Given the description of an element on the screen output the (x, y) to click on. 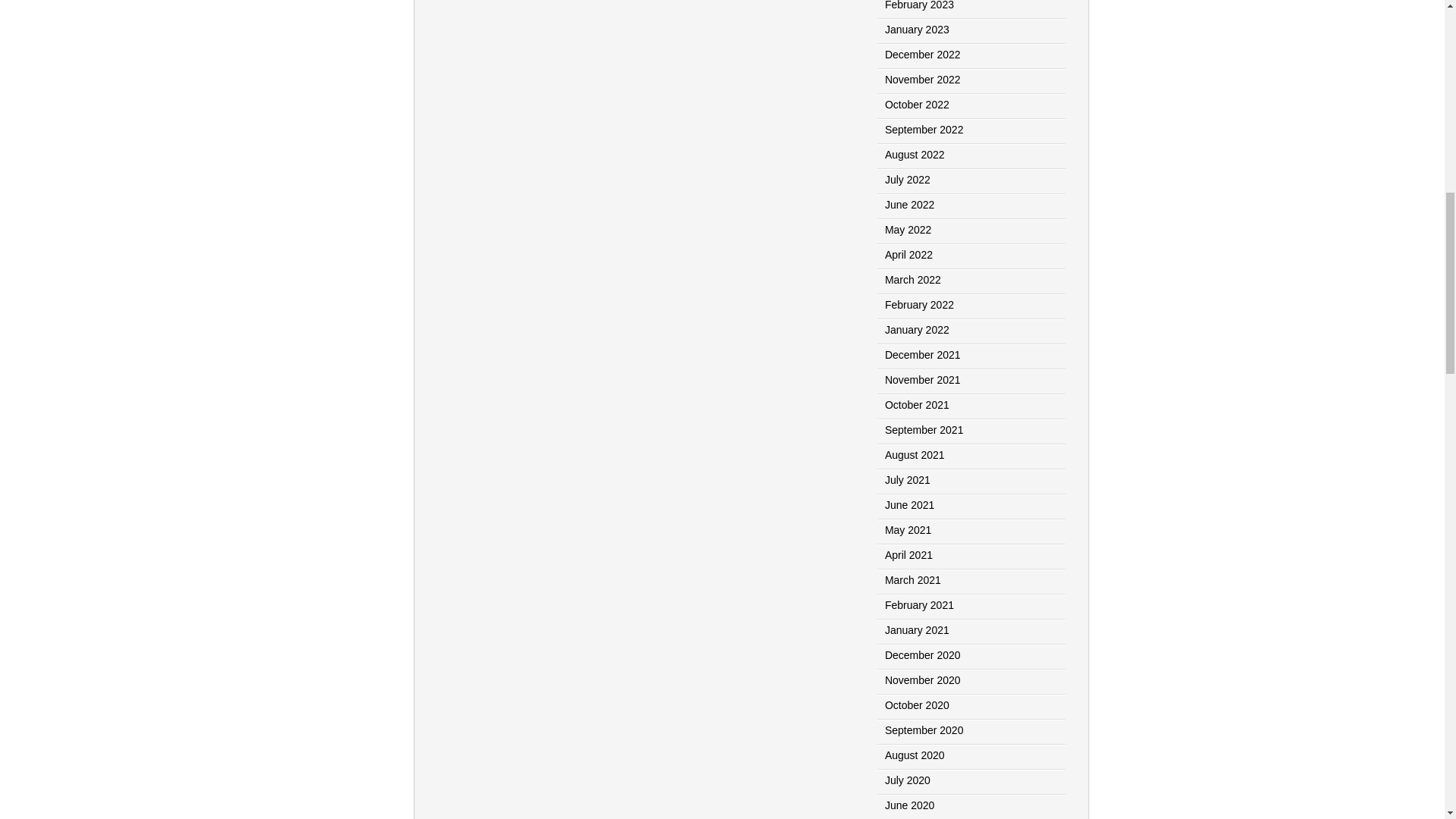
February 2023 (919, 5)
